Given the description of an element on the screen output the (x, y) to click on. 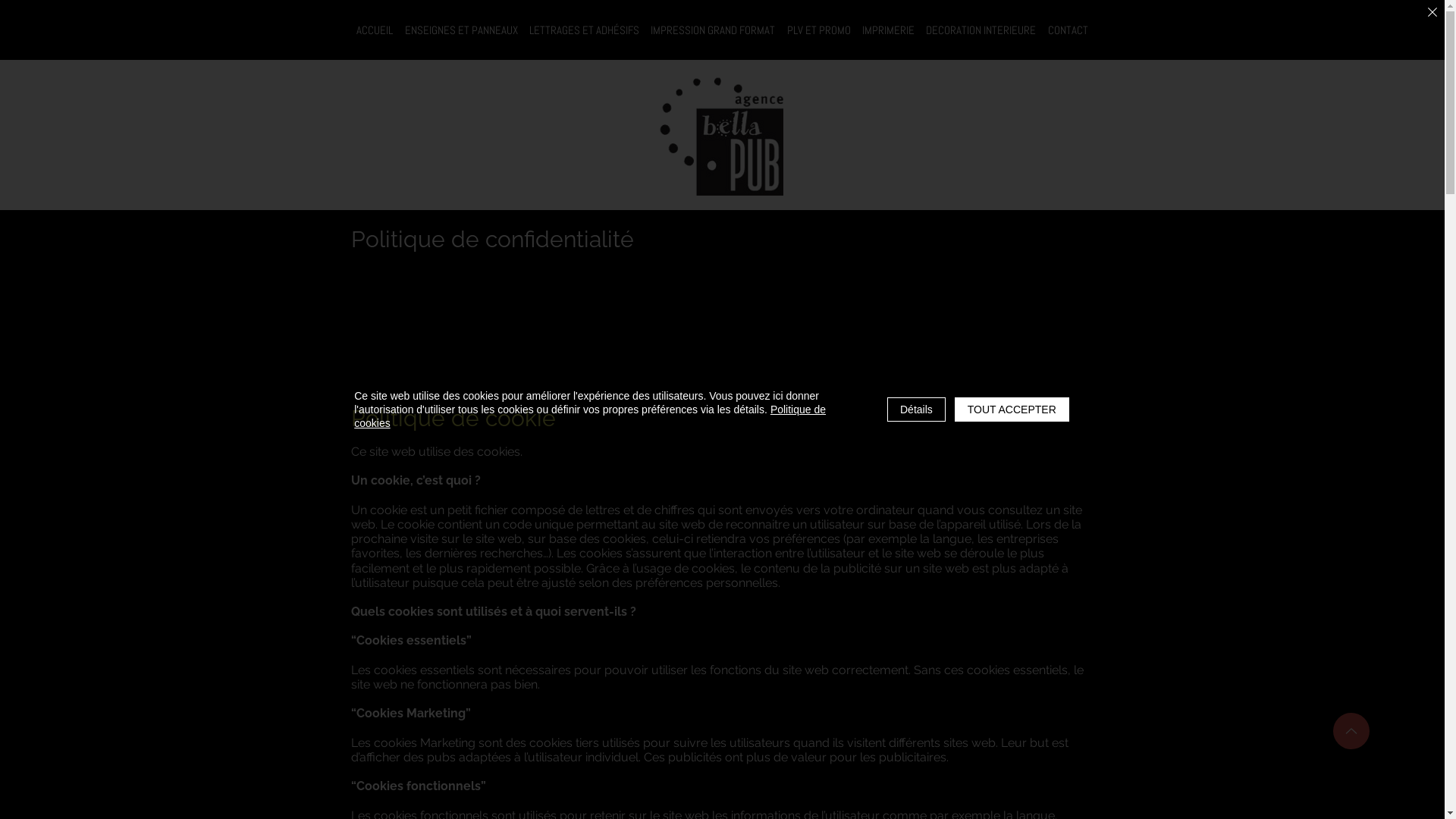
ACCUEIL Element type: text (374, 29)
IMPRIMERIE Element type: text (887, 29)
CONTACT Element type: text (1067, 29)
TOUT ACCEPTER Element type: text (1011, 409)
Politique de cookies Element type: text (589, 416)
IMPRESSION GRAND FORMAT Element type: text (713, 29)
DECORATION INTERIEURE Element type: text (980, 29)
PLV ET PROMO Element type: text (818, 29)
ENSEIGNES ET PANNEAUX Element type: text (460, 29)
